Given the description of an element on the screen output the (x, y) to click on. 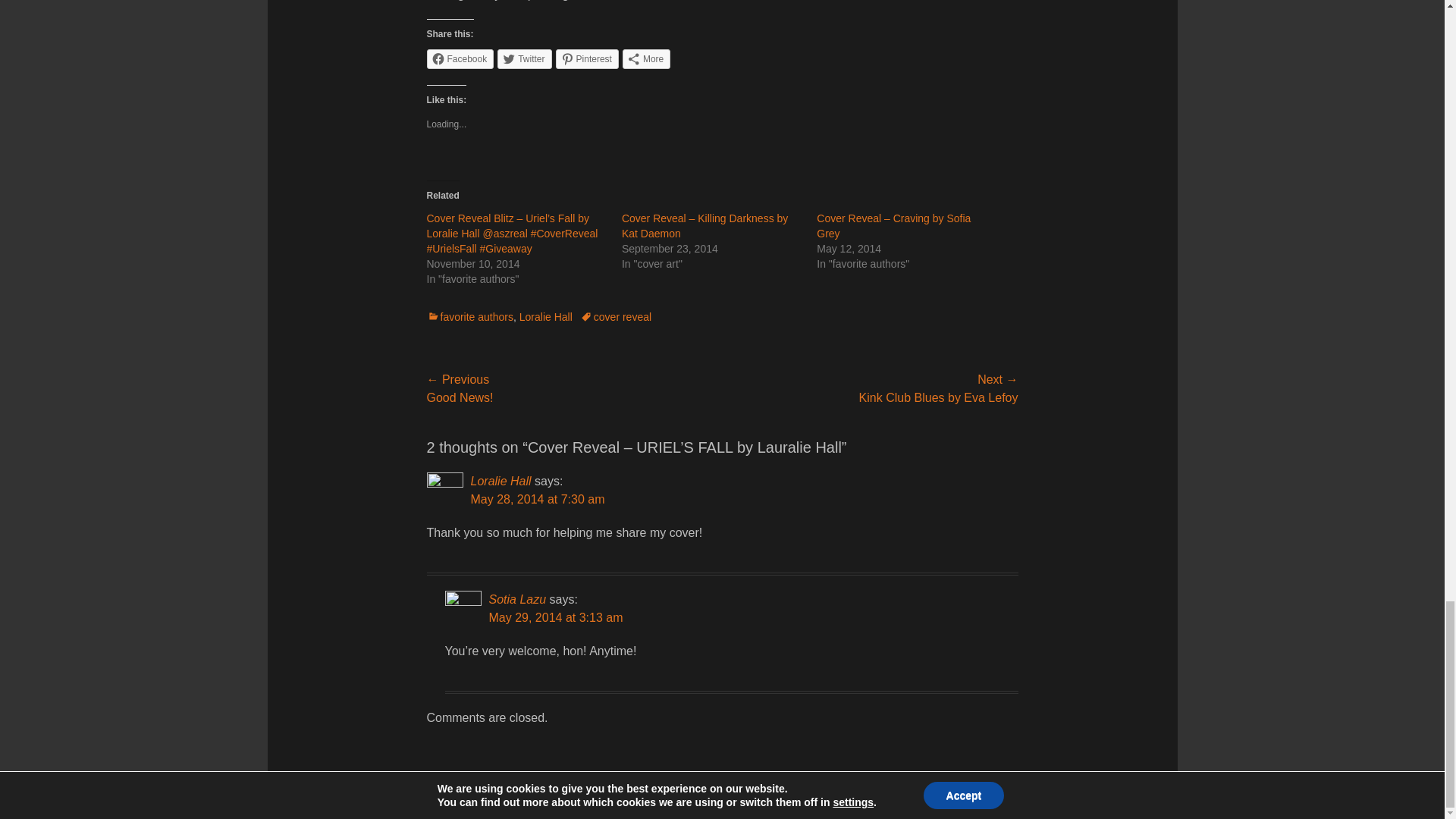
Click to share on Twitter (524, 58)
Twitter (524, 58)
Facebook (459, 58)
Click to share on Facebook (459, 58)
Pinterest (587, 58)
Click to share on Pinterest (587, 58)
